Given the description of an element on the screen output the (x, y) to click on. 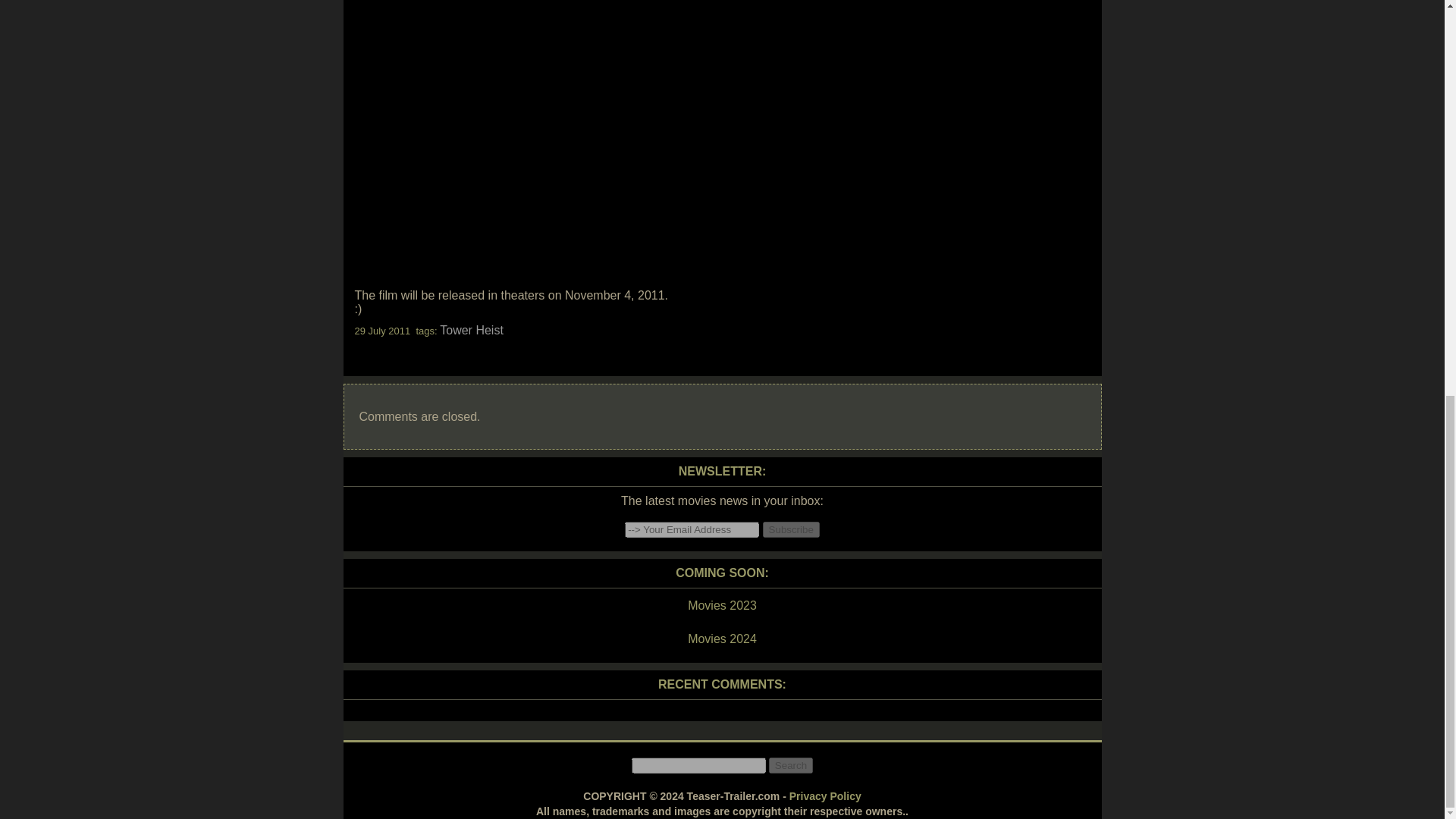
Search (790, 765)
Subscribe (790, 529)
Search (790, 765)
Tower Heist (471, 329)
Movies 2024 (721, 639)
Subscribe (790, 529)
Privacy Policy (825, 796)
Movies 2023 (721, 605)
